Given the description of an element on the screen output the (x, y) to click on. 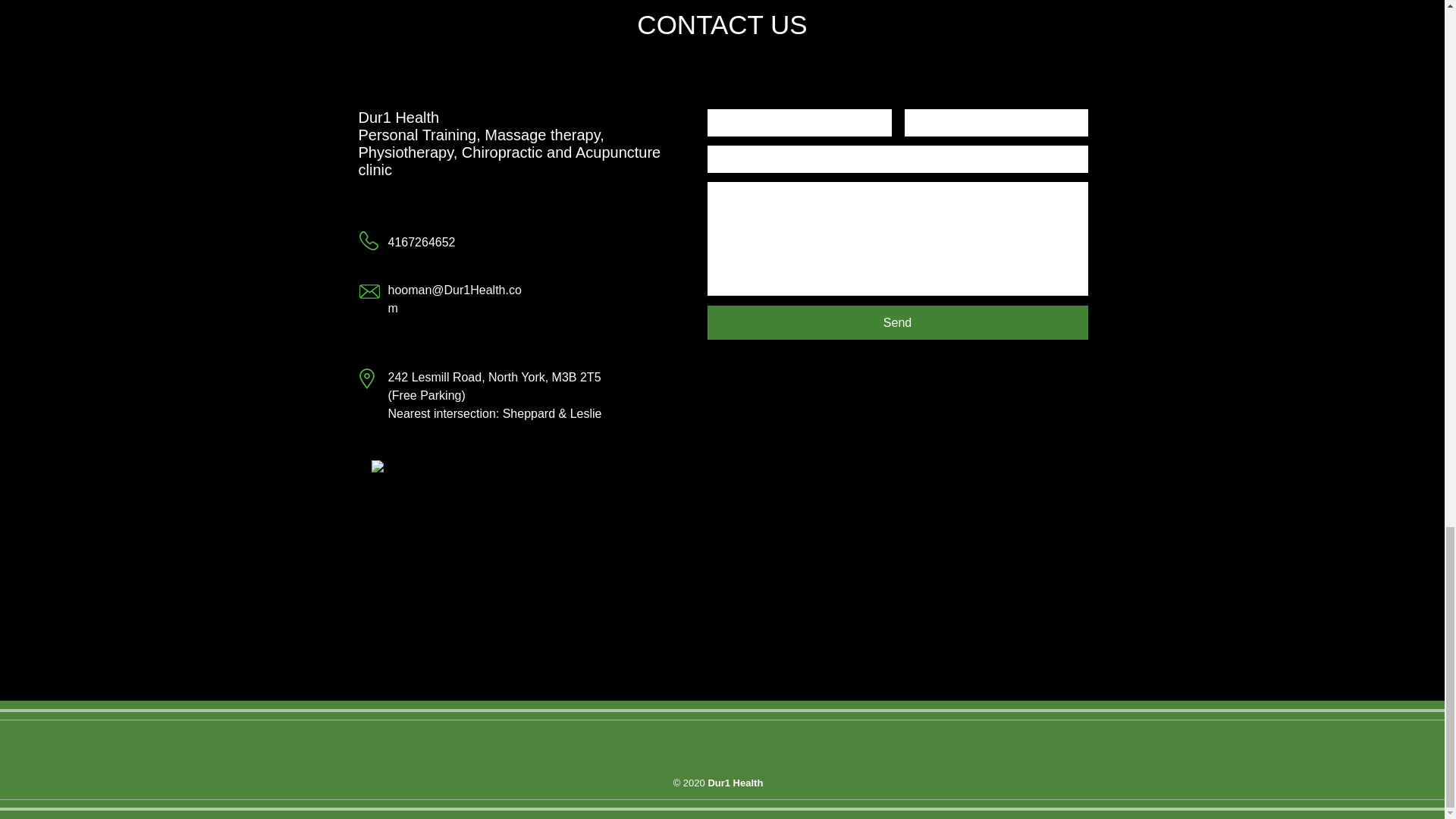
4167264652 (421, 241)
Send (896, 322)
Dur (369, 117)
